Given the description of an element on the screen output the (x, y) to click on. 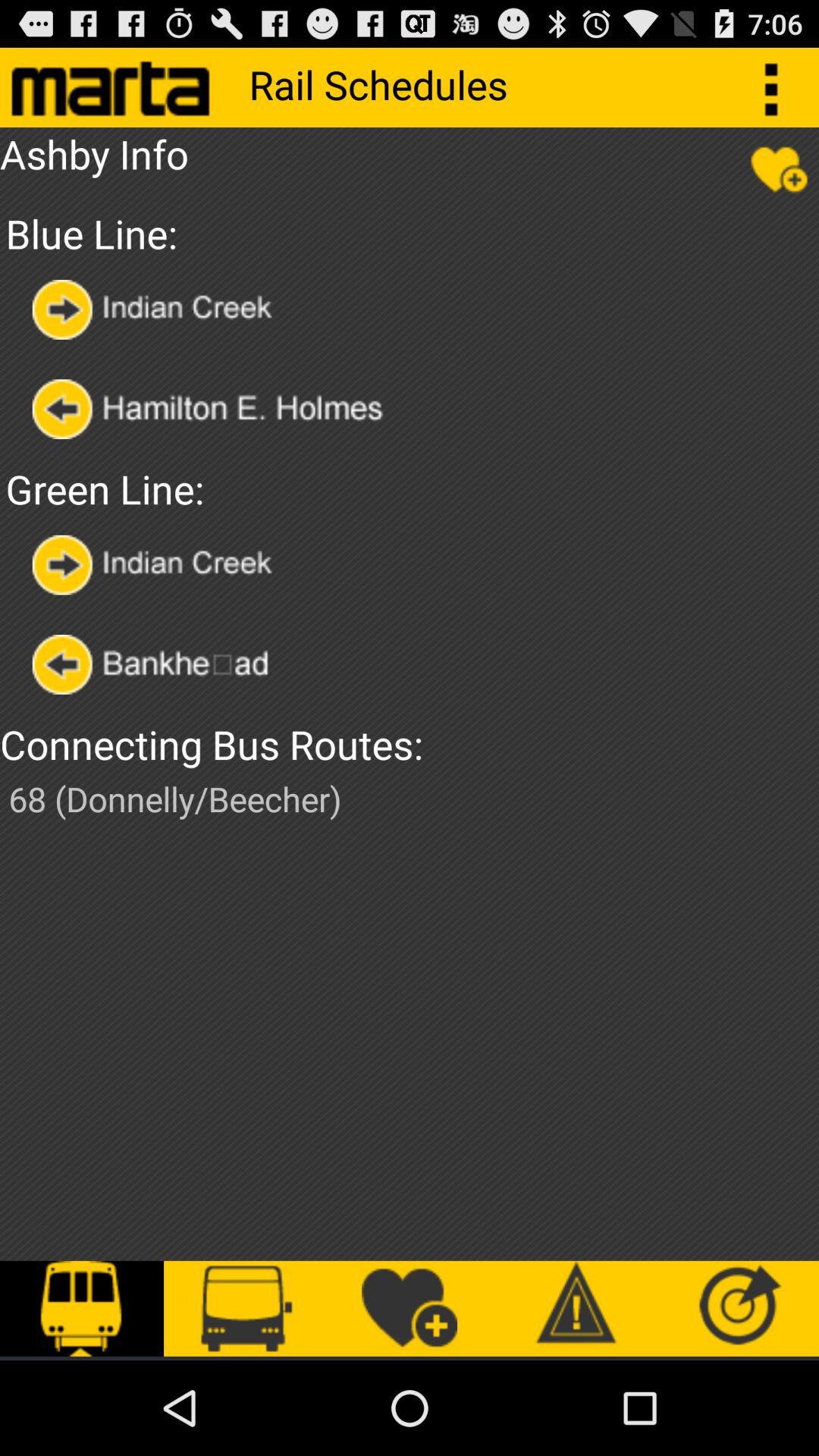
go to selected rail station (156, 564)
